Given the description of an element on the screen output the (x, y) to click on. 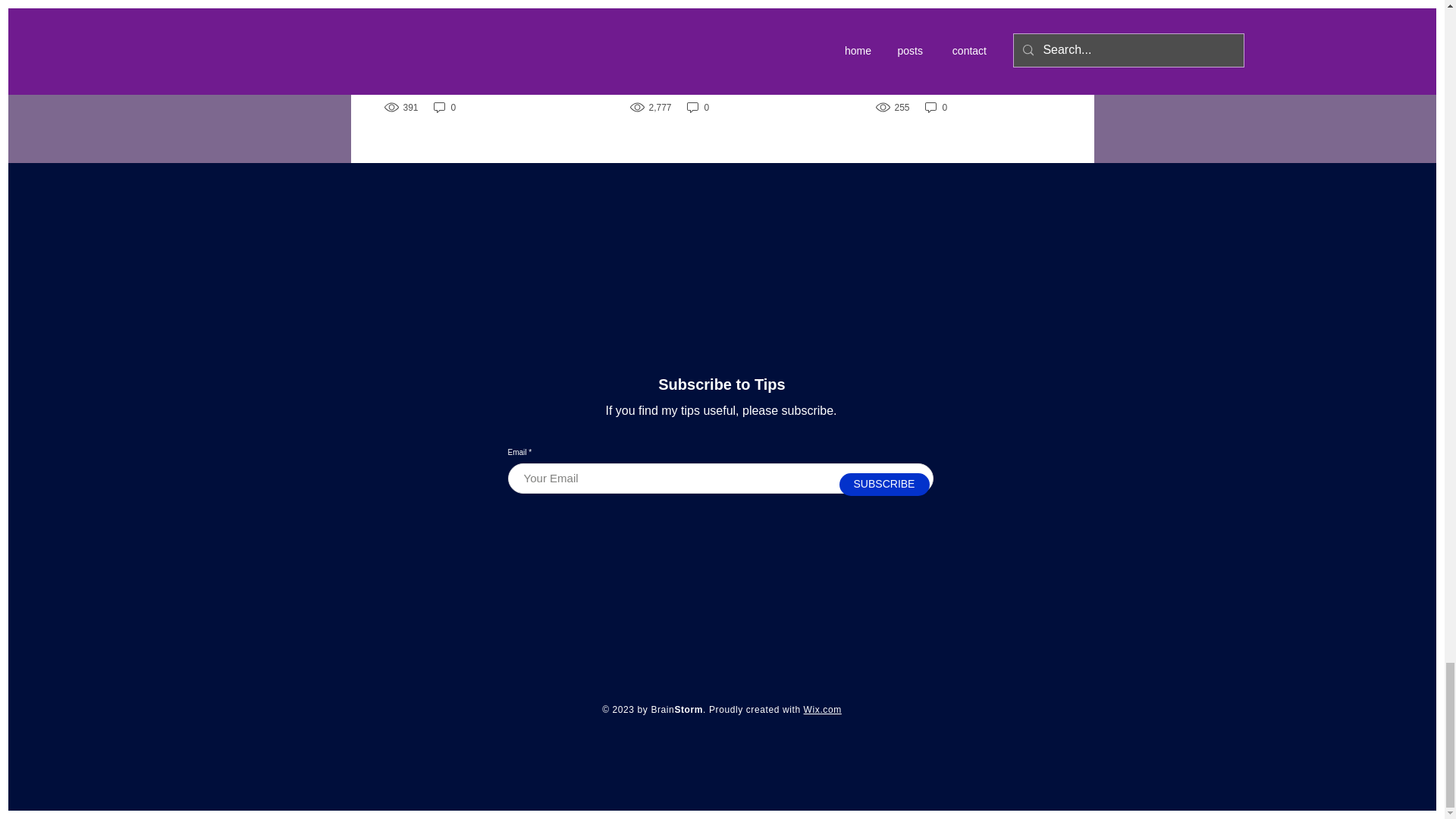
Simple REST API JSON Example (720, 54)
0 (698, 106)
Wix.com (822, 709)
0 (936, 106)
0 (445, 106)
SUBSCRIBE (883, 484)
IF ElSEIF Statement Tip (475, 46)
